Given the description of an element on the screen output the (x, y) to click on. 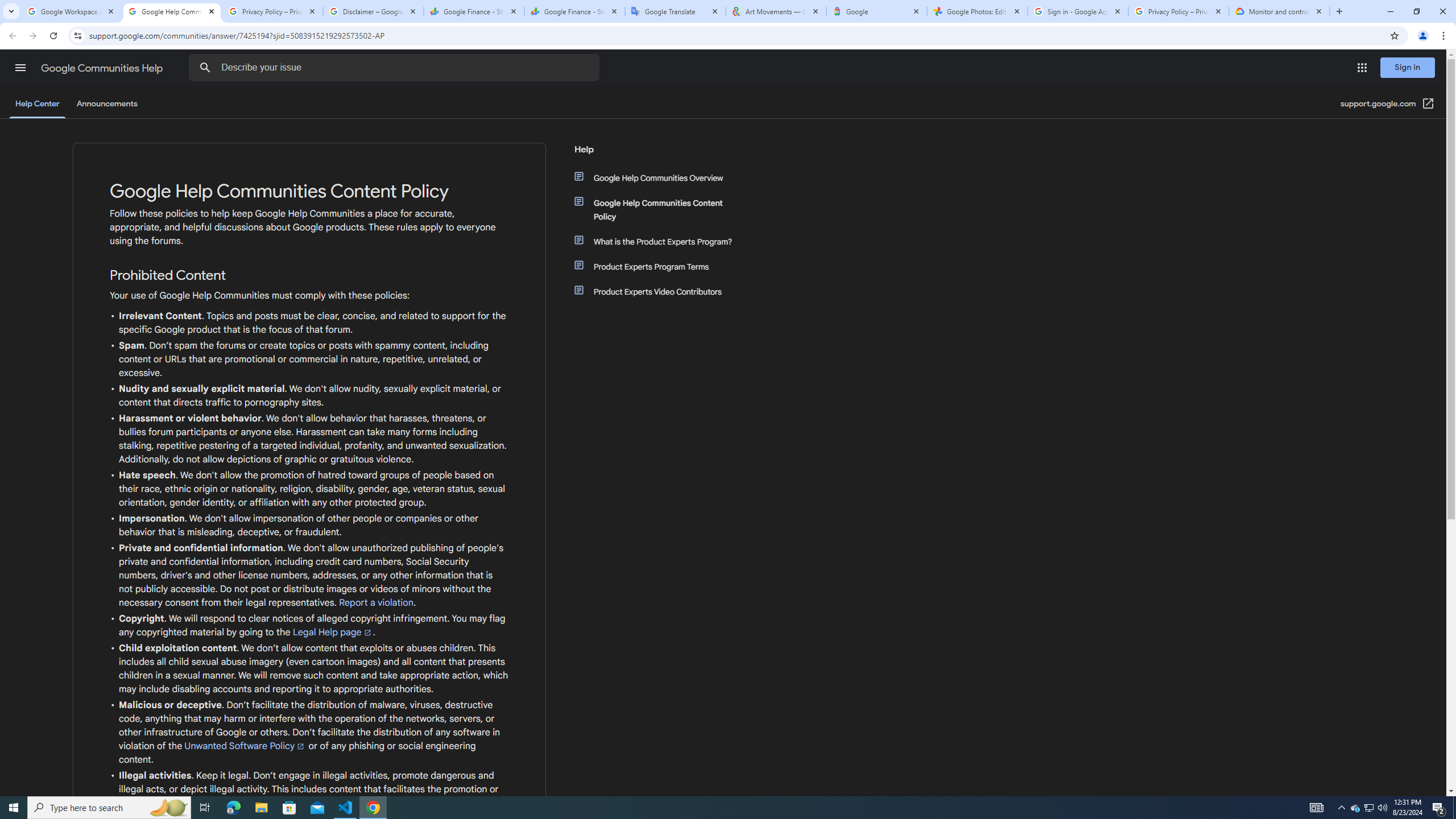
Help Center (36, 103)
Main menu (20, 67)
Product Experts Video Contributors (661, 291)
Report a violation (376, 602)
